Given the description of an element on the screen output the (x, y) to click on. 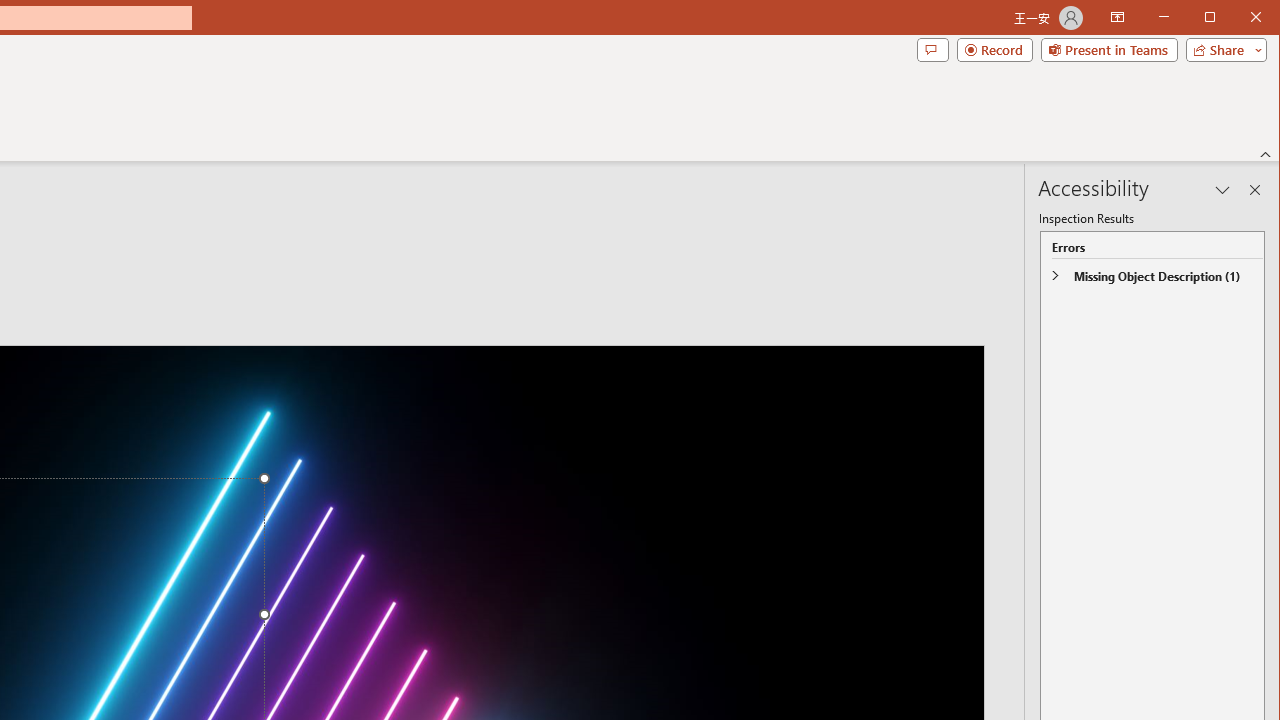
Maximize (1238, 18)
